Given the description of an element on the screen output the (x, y) to click on. 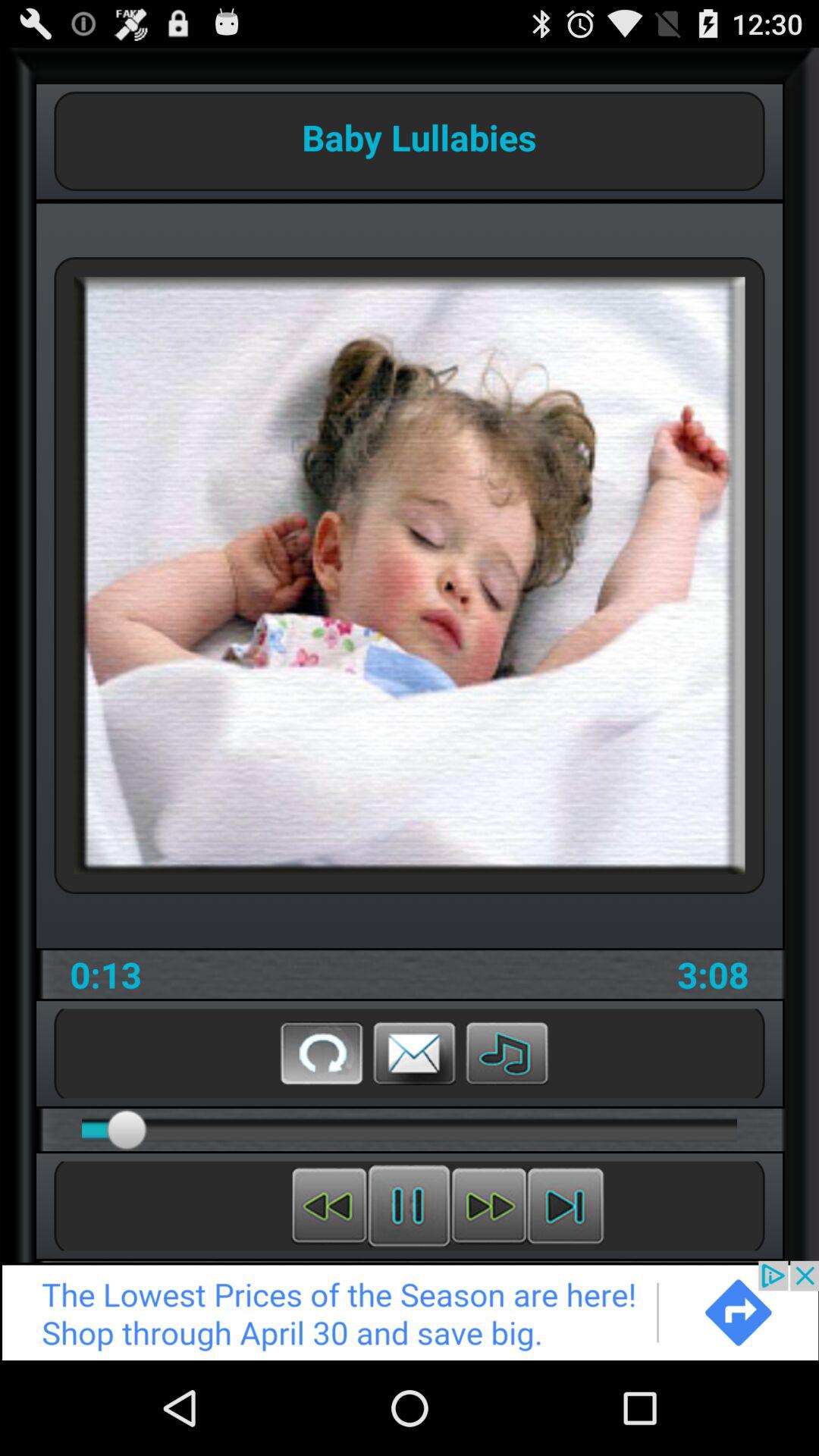
rewind music (329, 1205)
